Given the description of an element on the screen output the (x, y) to click on. 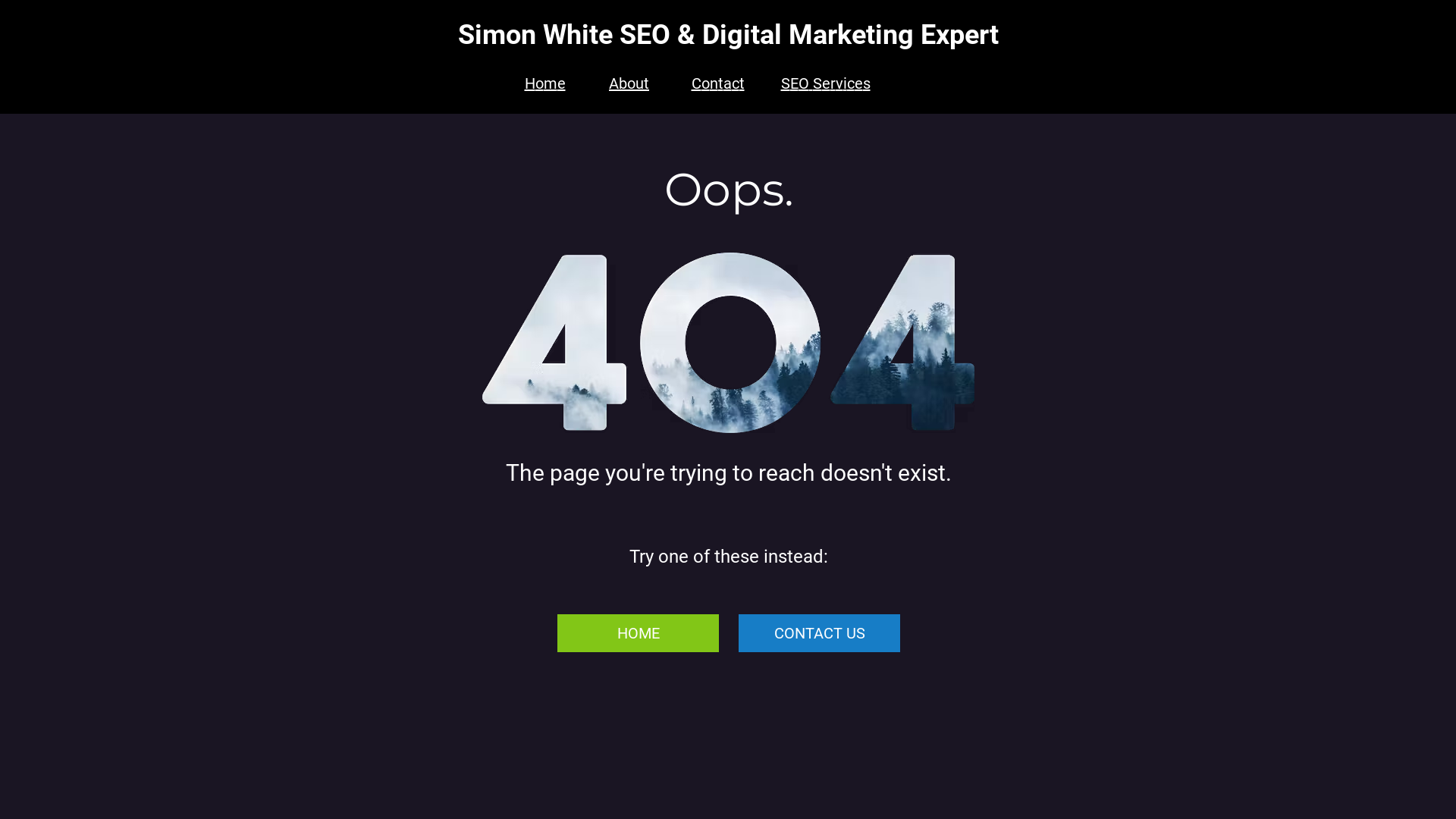
c Element type: text (849, 83)
t Element type: text (740, 83)
o Element type: text (539, 83)
S Element type: text (817, 83)
e Element type: text (857, 83)
v Element type: text (839, 83)
r Element type: text (831, 83)
a Element type: text (727, 83)
O Element type: text (802, 83)
S Element type: text (785, 83)
e Element type: text (826, 83)
s Element type: text (866, 83)
t Element type: text (646, 83)
t Element type: text (719, 83)
c Element type: text (734, 83)
u Element type: text (639, 83)
A Element type: text (613, 83)
CONTACT US Element type: text (819, 633)
o Element type: text (631, 83)
H Element type: text (529, 83)
m Element type: text (549, 83)
i Element type: text (845, 83)
E Element type: text (794, 83)
C Element type: text (696, 83)
e Element type: text (560, 83)
b Element type: text (622, 83)
n Element type: text (713, 83)
  Element type: text (810, 83)
HOME Element type: text (637, 633)
o Element type: text (704, 83)
